Given the description of an element on the screen output the (x, y) to click on. 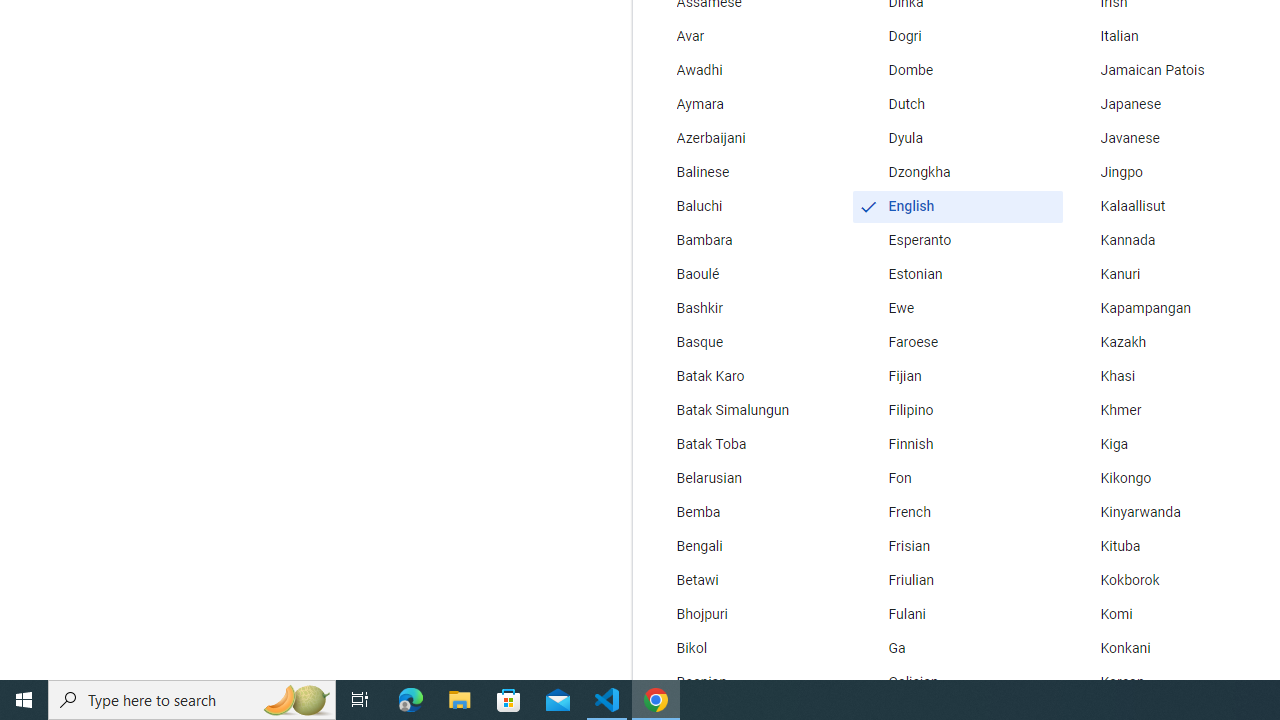
Basque (745, 342)
Kikongo (1168, 478)
Bashkir (745, 308)
Azerbaijani (745, 138)
Dyula (957, 138)
Batak Karo (745, 376)
Khmer (1168, 410)
Komi (1168, 614)
Galician (957, 682)
Kazakh (1168, 342)
Italian (1168, 36)
Belarusian (745, 478)
Bikol (745, 648)
Kannada (1168, 240)
Bhojpuri (745, 614)
